Given the description of an element on the screen output the (x, y) to click on. 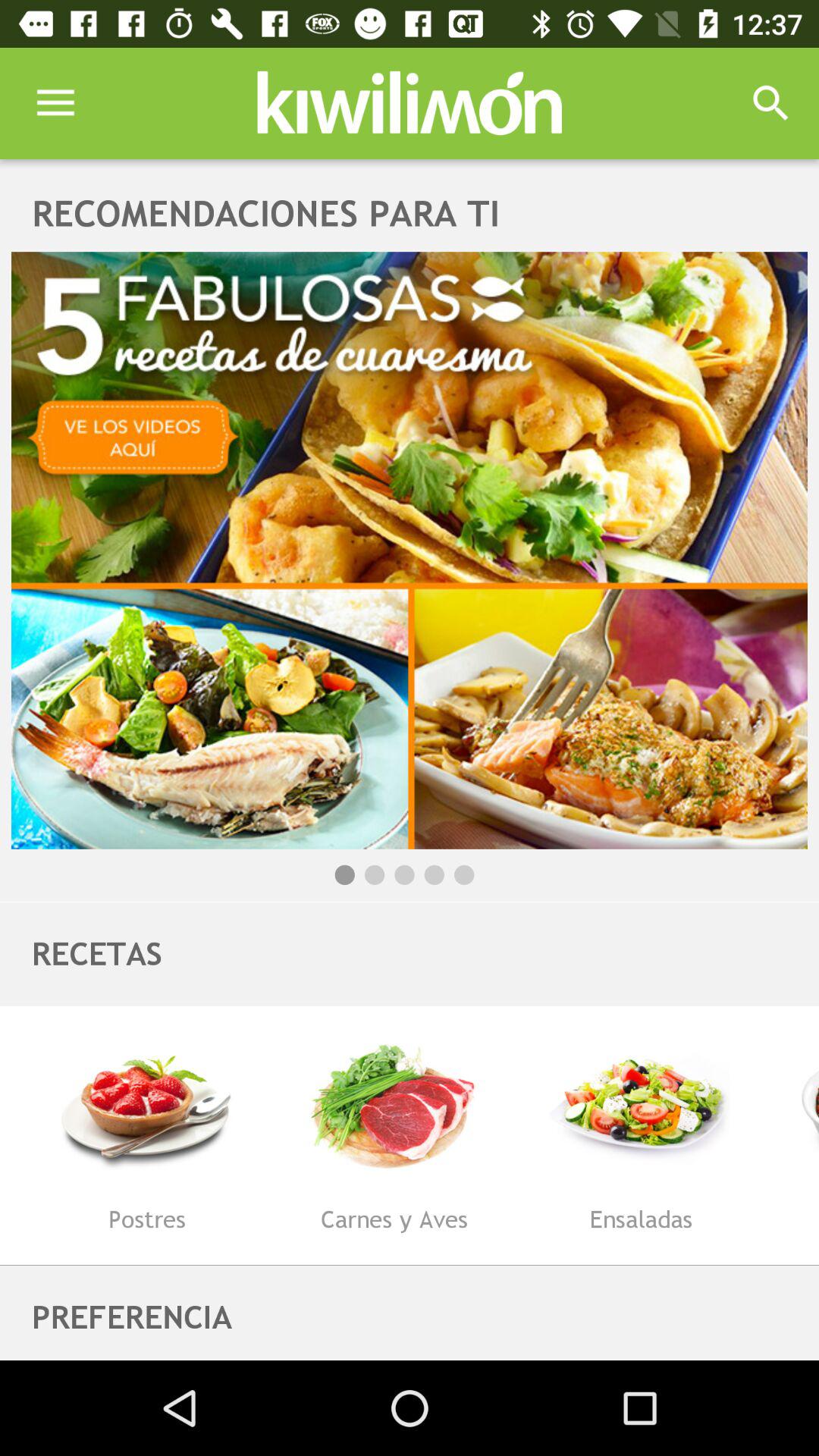
launch icon above the recomendaciones para ti item (771, 103)
